Given the description of an element on the screen output the (x, y) to click on. 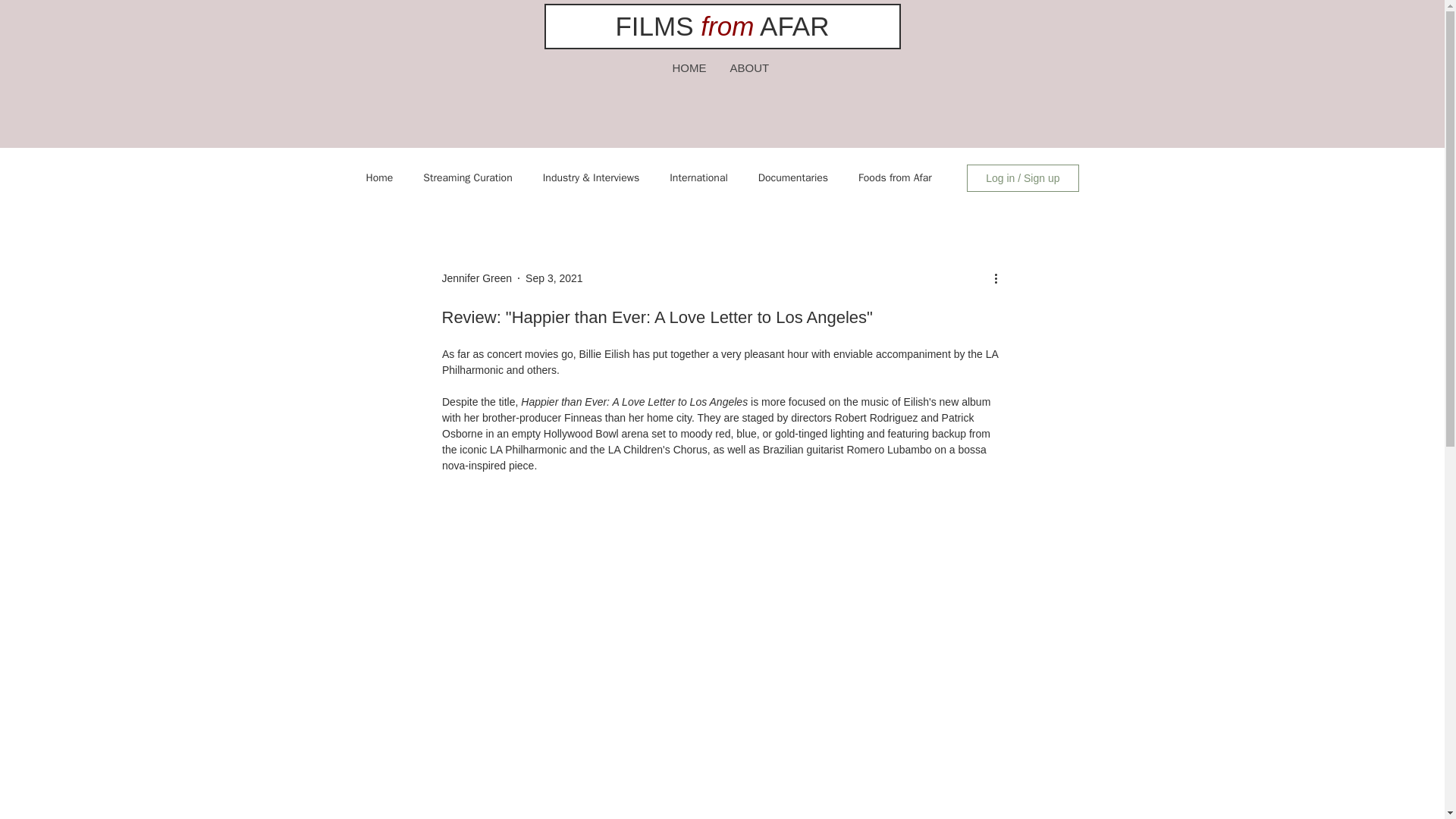
Streaming Curation (467, 178)
Documentaries (793, 178)
HOME (689, 68)
Jennifer Green (476, 277)
ABOUT (748, 68)
International (698, 178)
Home (379, 178)
Foods from Afar (895, 178)
Sep 3, 2021 (554, 277)
